Given the description of an element on the screen output the (x, y) to click on. 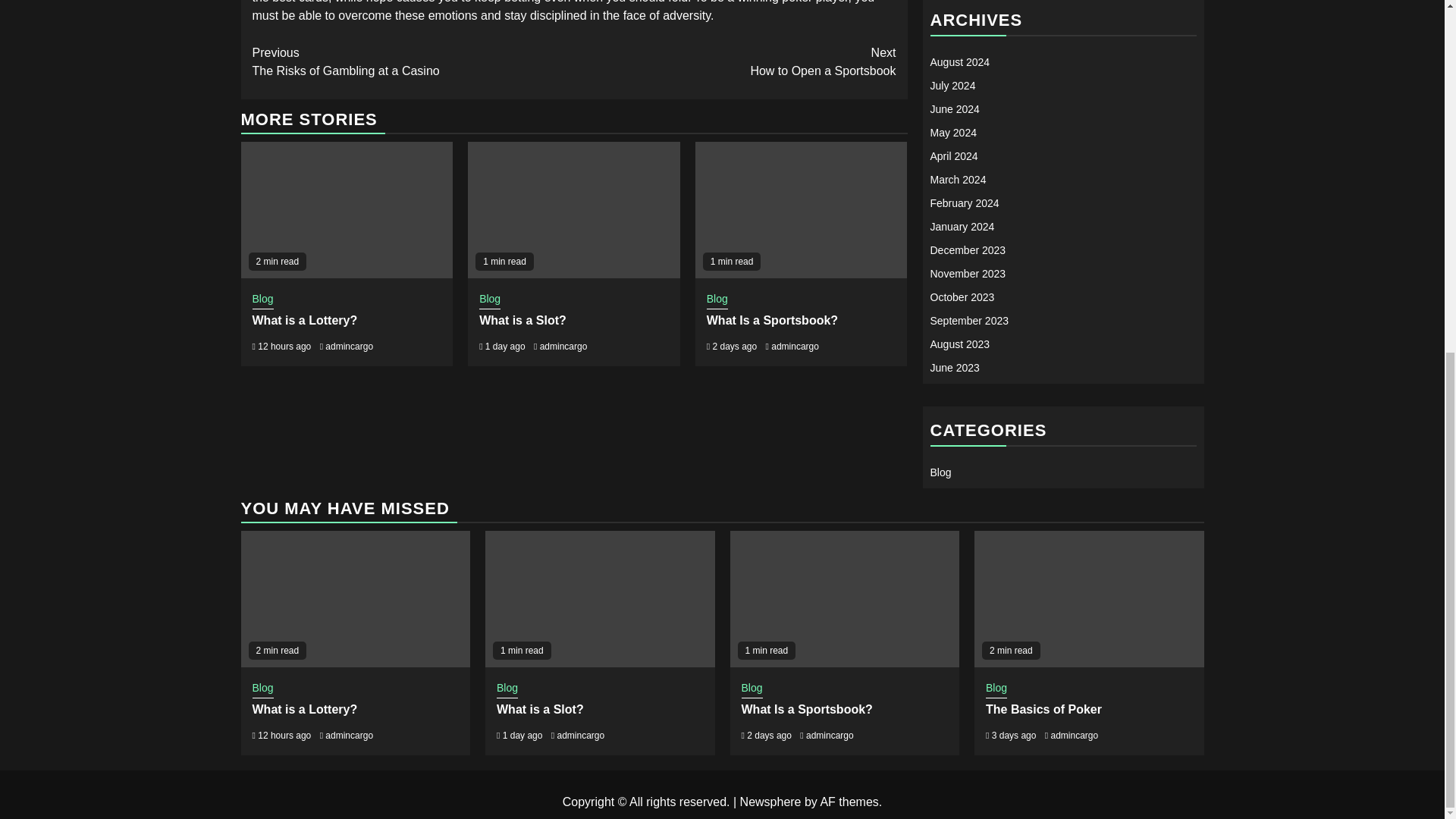
February 2024 (964, 203)
May 2024 (952, 132)
July 2024 (952, 85)
What Is a Sportsbook? (772, 319)
Blog (717, 300)
admincargo (794, 346)
April 2024 (953, 155)
August 2024 (960, 61)
Blog (489, 300)
Blog (262, 300)
admincargo (564, 346)
January 2024 (962, 226)
admincargo (348, 346)
What is a Lottery? (303, 319)
June 2024 (954, 109)
